Given the description of an element on the screen output the (x, y) to click on. 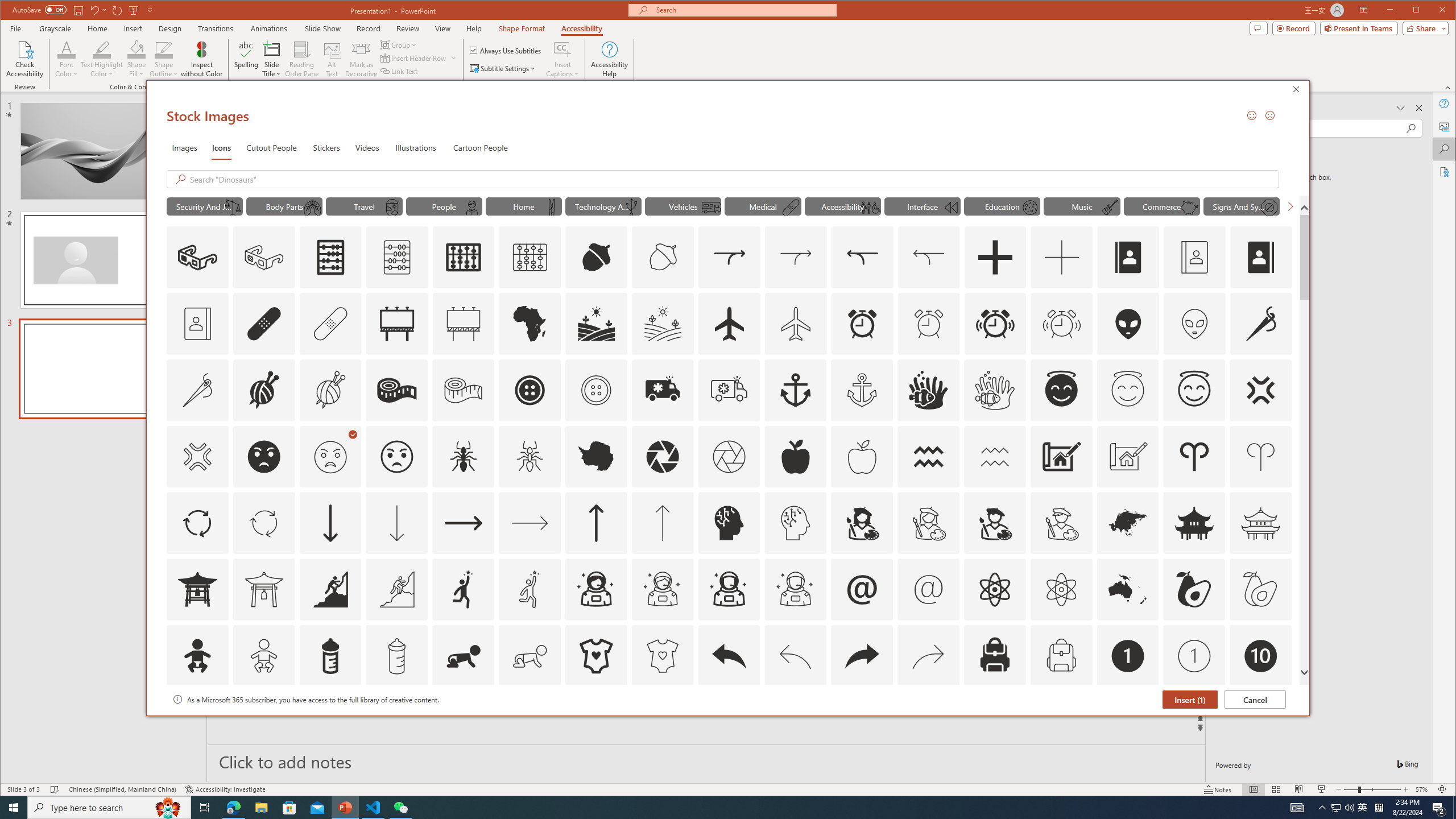
AutomationID: Icons_Badge8_M (1128, 721)
AutomationID: Icons_Badge6 (795, 721)
AutomationID: Icons_AlterationsTailoring_M (197, 389)
AutomationID: Icons_AlarmRinging (995, 323)
